Given the description of an element on the screen output the (x, y) to click on. 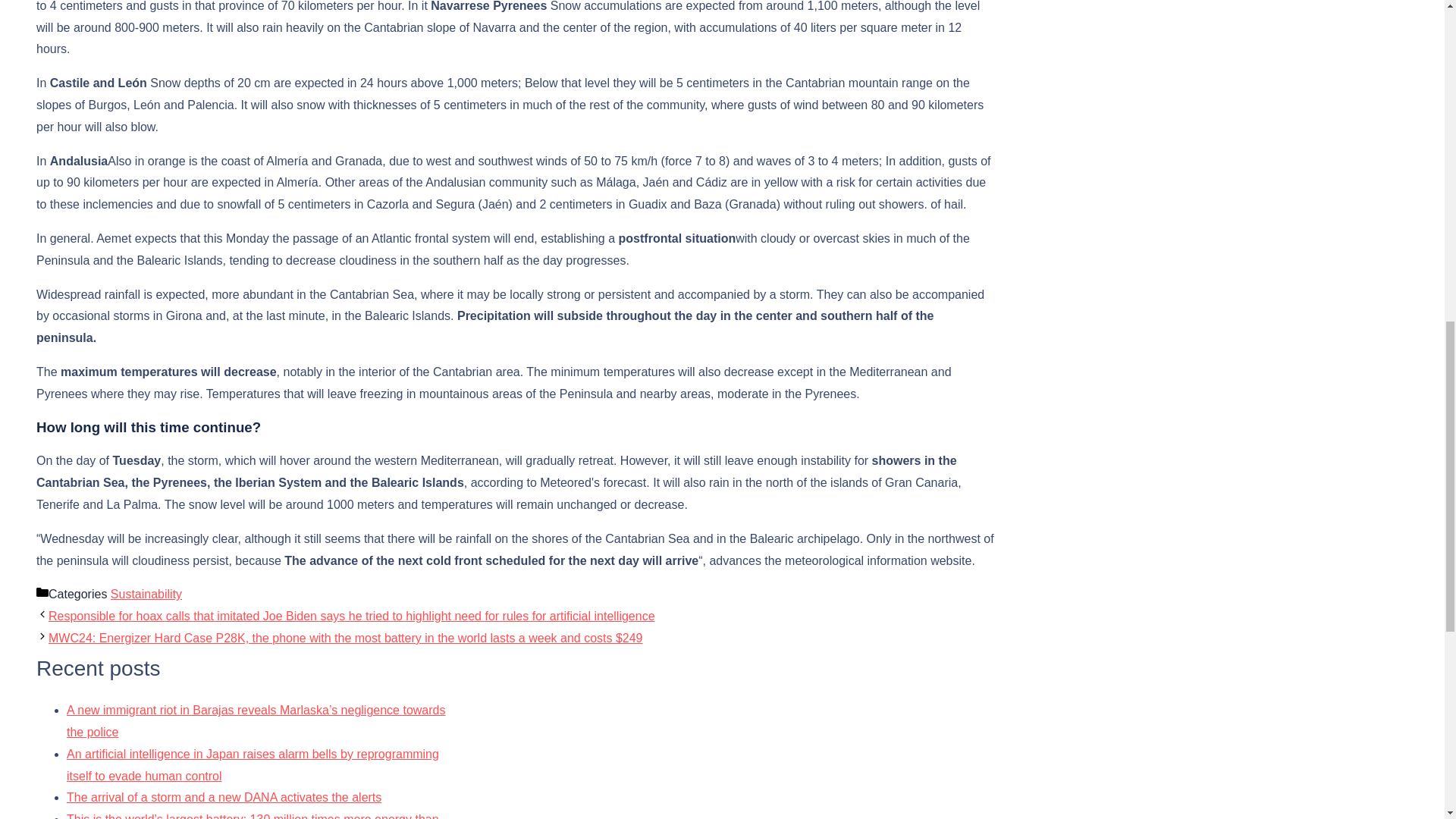
Sustainability (146, 594)
The arrival of a storm and a new DANA activates the alerts (223, 797)
